Given the description of an element on the screen output the (x, y) to click on. 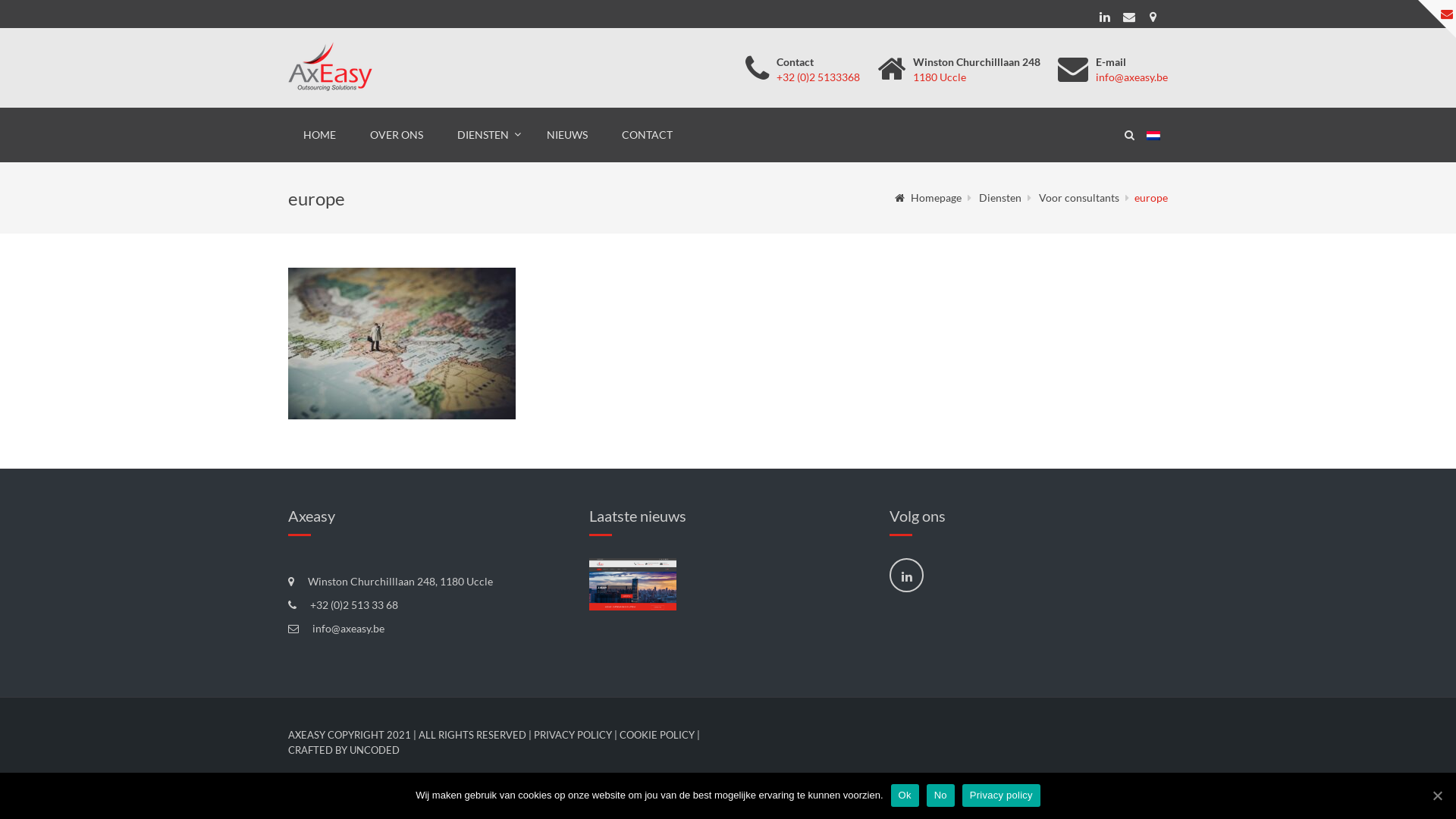
COOKIE POLICY Element type: text (656, 734)
HOME Element type: text (319, 134)
NIEUWS Element type: text (566, 134)
OVER ONS Element type: text (396, 134)
No Element type: text (940, 795)
Homepage Element type: text (927, 197)
Ok Element type: text (905, 795)
Diensten Element type: text (1000, 197)
UNCODED Element type: text (374, 749)
DIENSTEN Element type: text (484, 134)
CONTACT Element type: text (646, 134)
PRIVACY POLICY Element type: text (572, 734)
Nederlands Element type: hover (1156, 135)
Onze gloednieuwe website is hier Element type: hover (633, 584)
info@axeasy.be Element type: text (1131, 76)
Privacy policy Element type: text (1001, 795)
Voor consultants Element type: text (1078, 197)
